Given the description of an element on the screen output the (x, y) to click on. 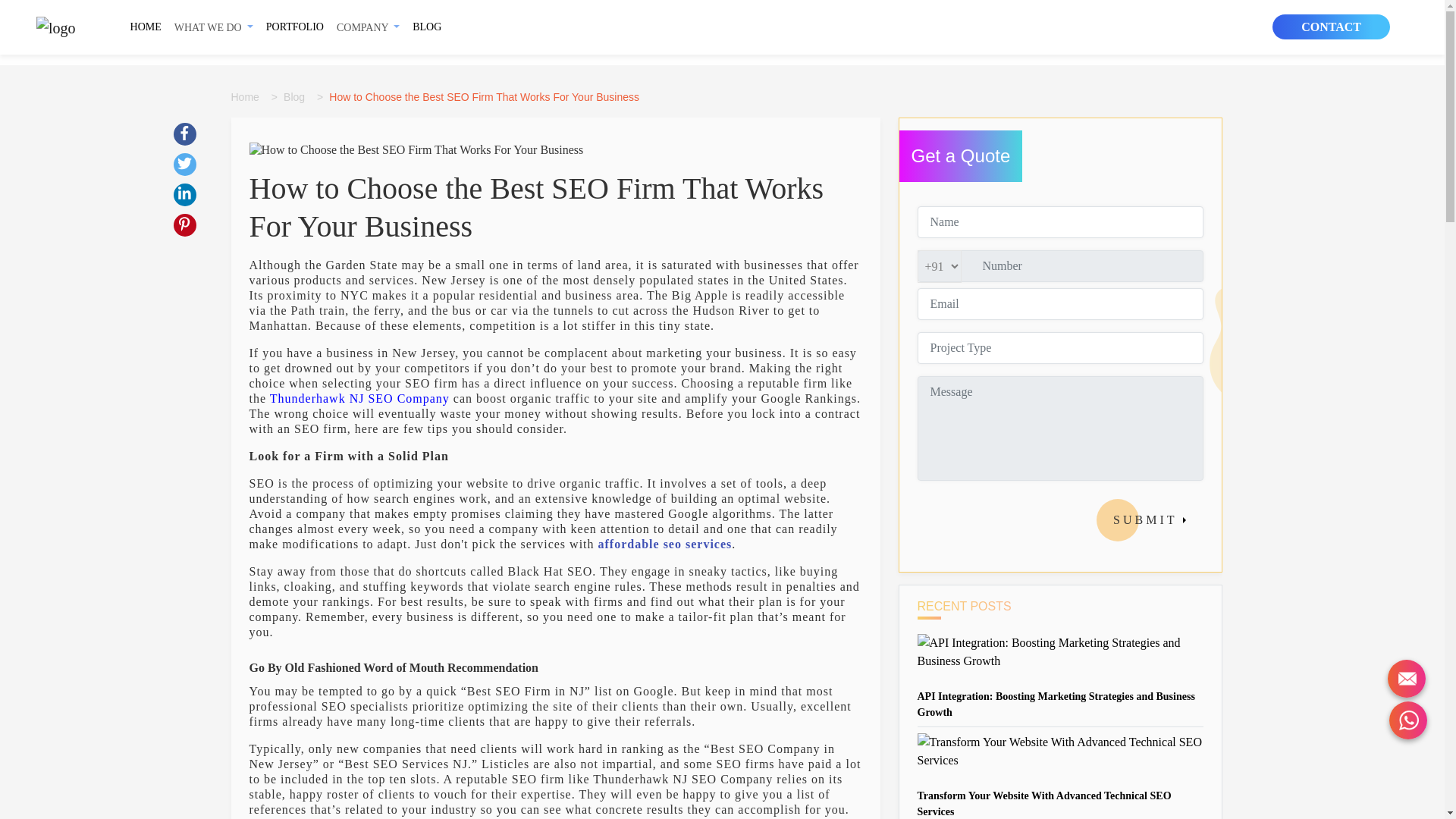
BLOG (426, 26)
COMPANY (368, 26)
WHAT WE DO (213, 26)
Transform Your Website With Advanced Technical SEO Services (1044, 803)
Blog (297, 96)
HOME (145, 26)
affordable seo services (665, 543)
PORTFOLIO (295, 26)
Thunderhawk NJ SEO Company (359, 398)
Home (247, 96)
CONTACT (1331, 26)
